Given the description of an element on the screen output the (x, y) to click on. 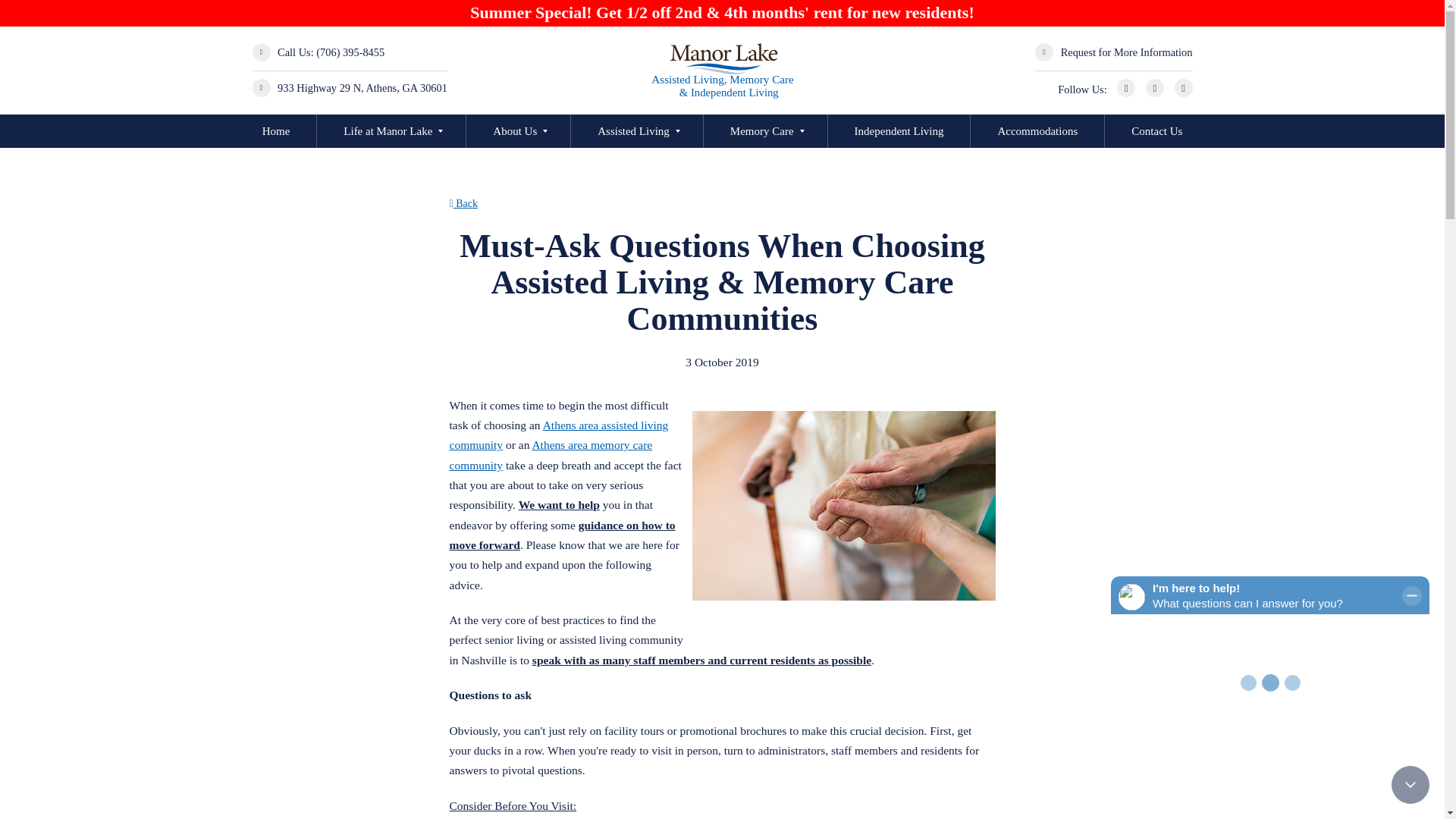
Contact Us (1156, 131)
Request for More Information (1126, 51)
About Us (515, 131)
Assisted Living (632, 131)
Memory Care (761, 131)
Chatbot VSA (1269, 689)
Independent Living (898, 131)
Accommodations (1037, 131)
Life at Manor Lake (387, 131)
Manor Lake Athens- Assisted Living and Memory Care (721, 70)
933 Highway 29 N, Athens, GA 30601 (362, 87)
